Given the description of an element on the screen output the (x, y) to click on. 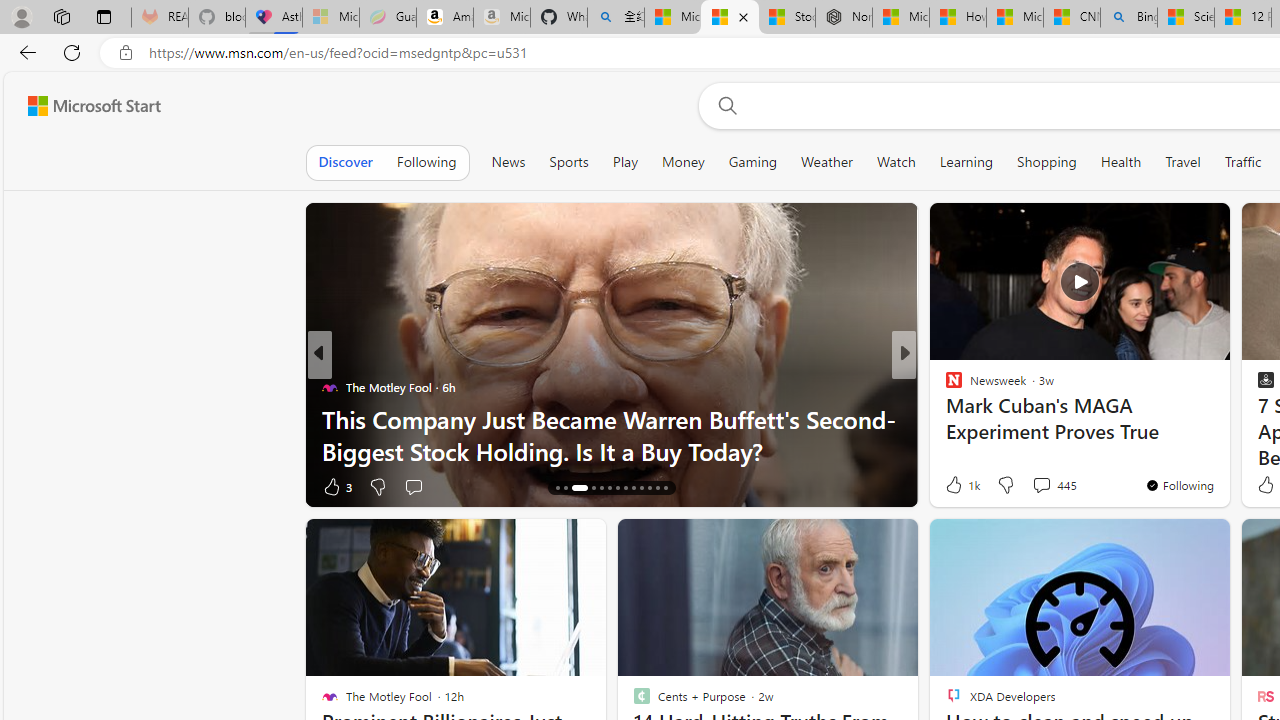
View comments 38 Comment (1042, 485)
40 Like (956, 486)
121 Like (959, 486)
1k Like (961, 484)
View comments 38 Comment (1051, 486)
View comments 34 Comment (1036, 485)
AutomationID: tab-24 (649, 487)
Constative (944, 386)
INSIDER (944, 386)
